Given the description of an element on the screen output the (x, y) to click on. 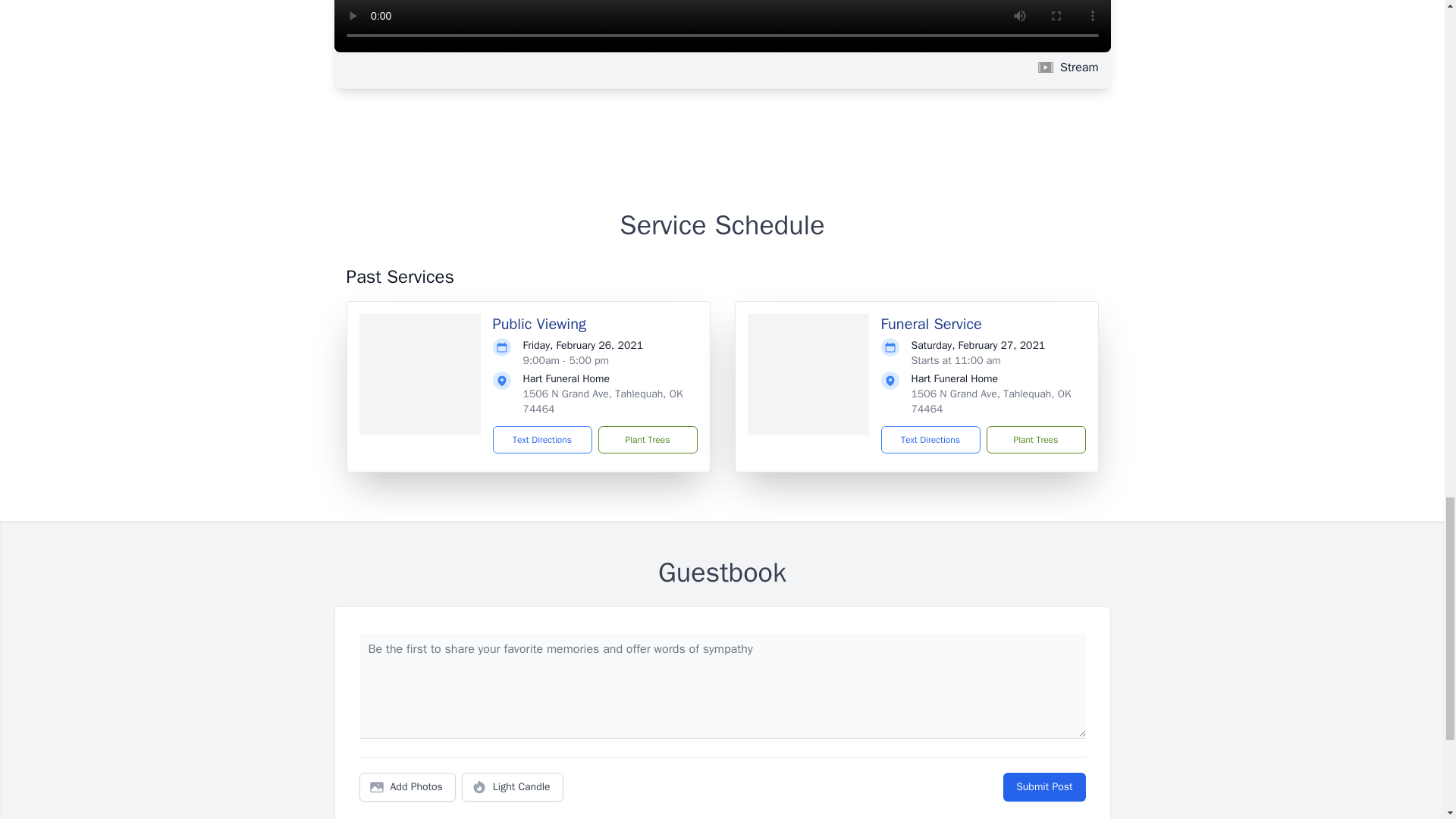
Submit Post (1043, 787)
Text Directions (929, 439)
Text Directions (542, 439)
Plant Trees (646, 439)
1506 N Grand Ave, Tahlequah, OK 74464 (602, 401)
Add Photos (407, 787)
Light Candle (512, 787)
Plant Trees (1034, 439)
1506 N Grand Ave, Tahlequah, OK 74464 (991, 401)
